Given the description of an element on the screen output the (x, y) to click on. 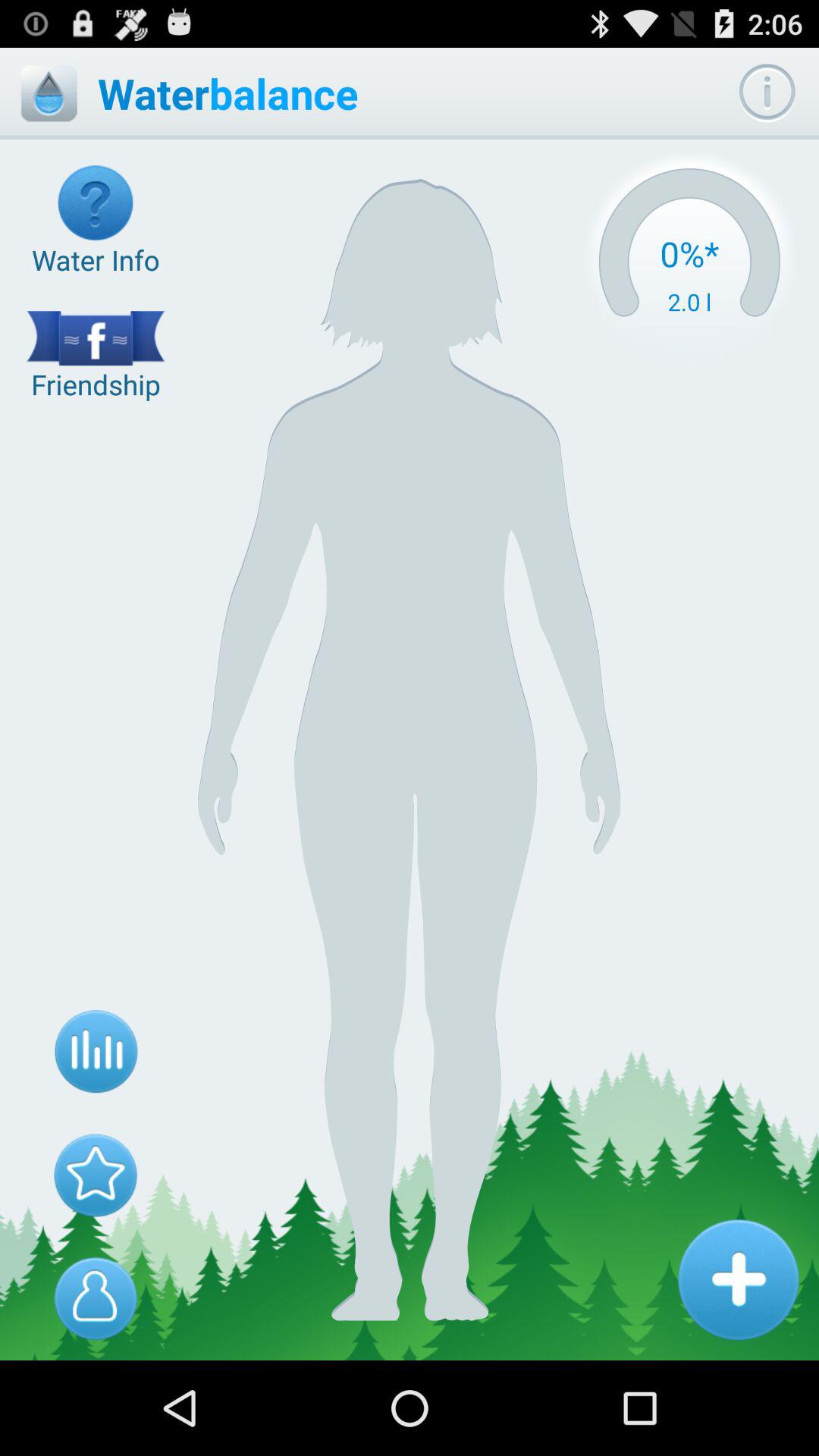
tap app next to the waterbalance item (767, 93)
